Given the description of an element on the screen output the (x, y) to click on. 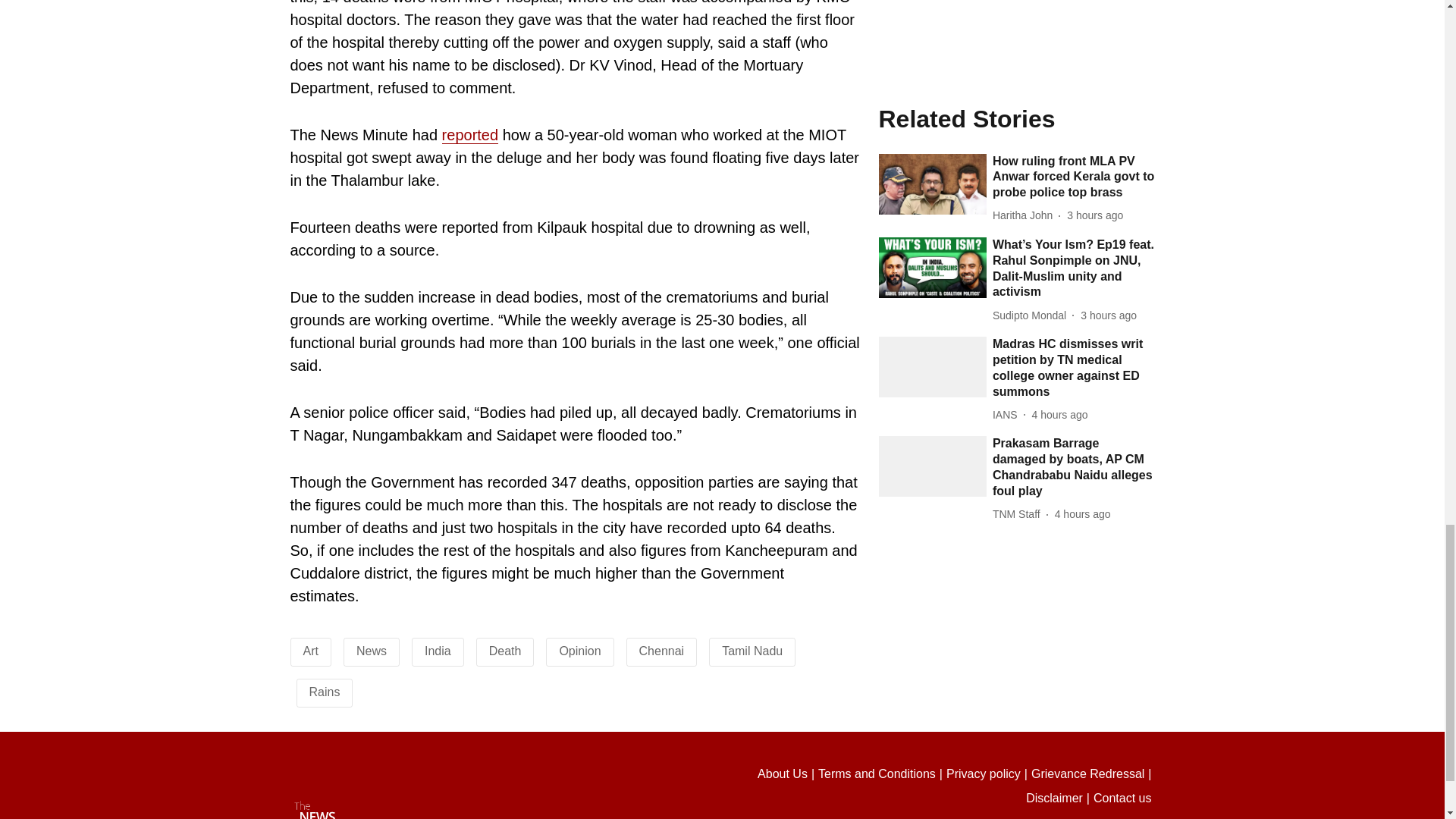
Opinion (579, 650)
Art (310, 650)
Tamil Nadu (752, 650)
India (438, 650)
reported (470, 135)
Chennai (661, 650)
Death (505, 650)
Rains (324, 691)
News (371, 650)
